Given the description of an element on the screen output the (x, y) to click on. 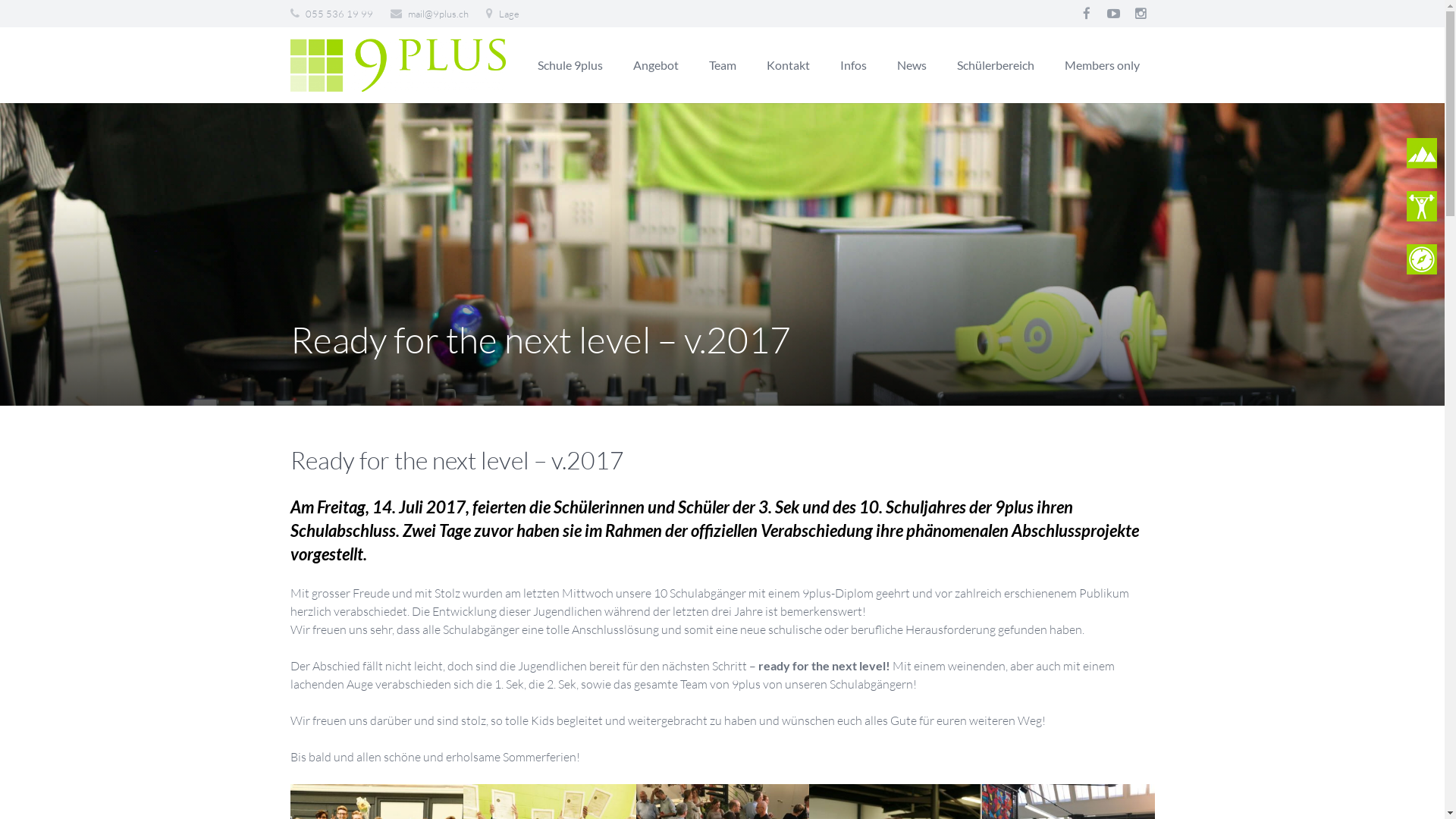
News Element type: text (911, 65)
Team Element type: text (721, 65)
Members only Element type: text (1101, 65)
055 536 19 99 Element type: text (338, 13)
Infos Element type: text (853, 65)
Kontakt Element type: text (787, 65)
Lage Element type: text (508, 13)
mail@9plus.ch Element type: text (437, 13)
Angebot Element type: text (655, 65)
Schule 9plus Element type: text (569, 65)
